Given the description of an element on the screen output the (x, y) to click on. 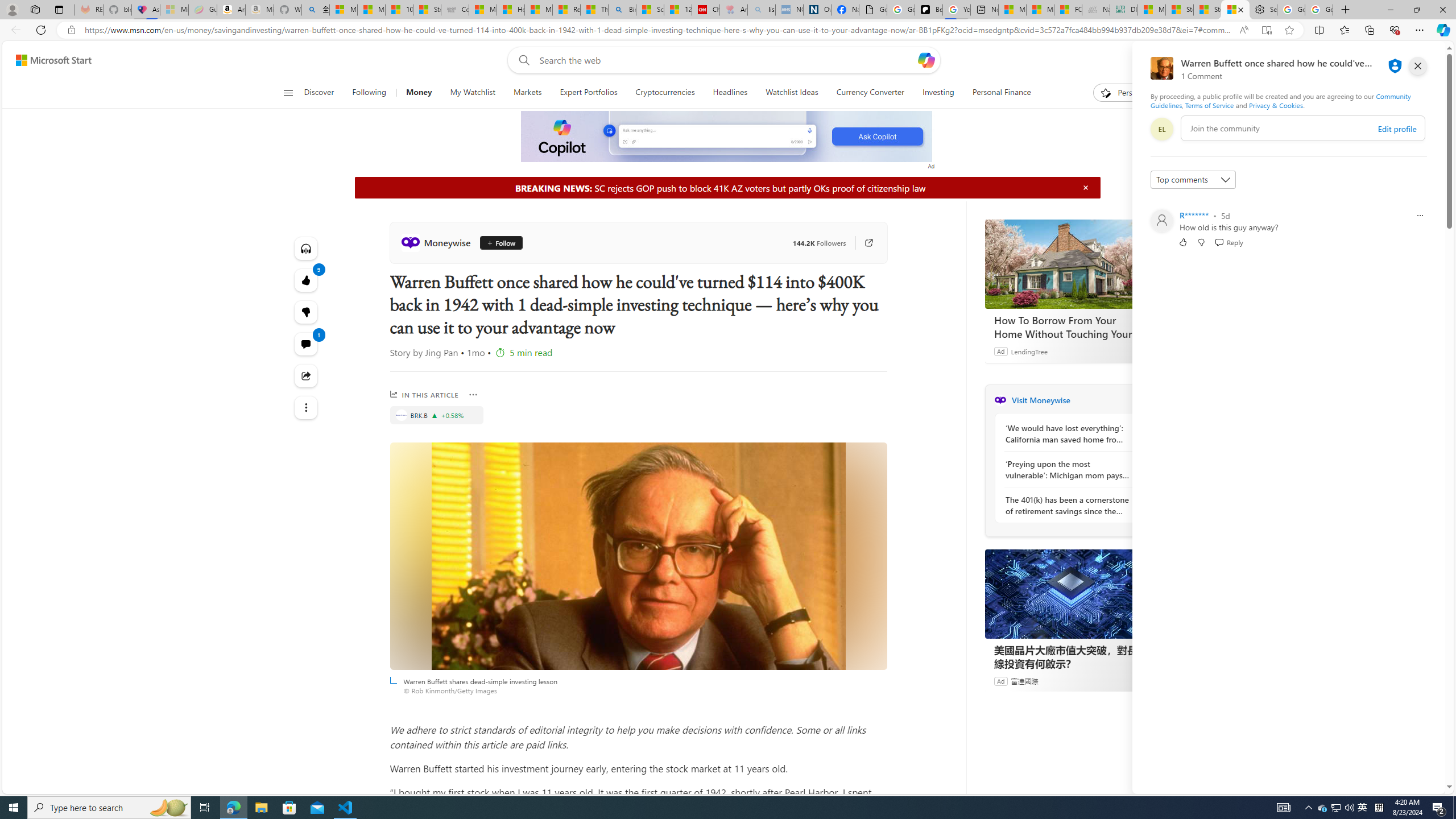
Skip to content (49, 59)
View comments 1 Comment (305, 343)
Edit profile (1396, 128)
Investing (937, 92)
